Given the description of an element on the screen output the (x, y) to click on. 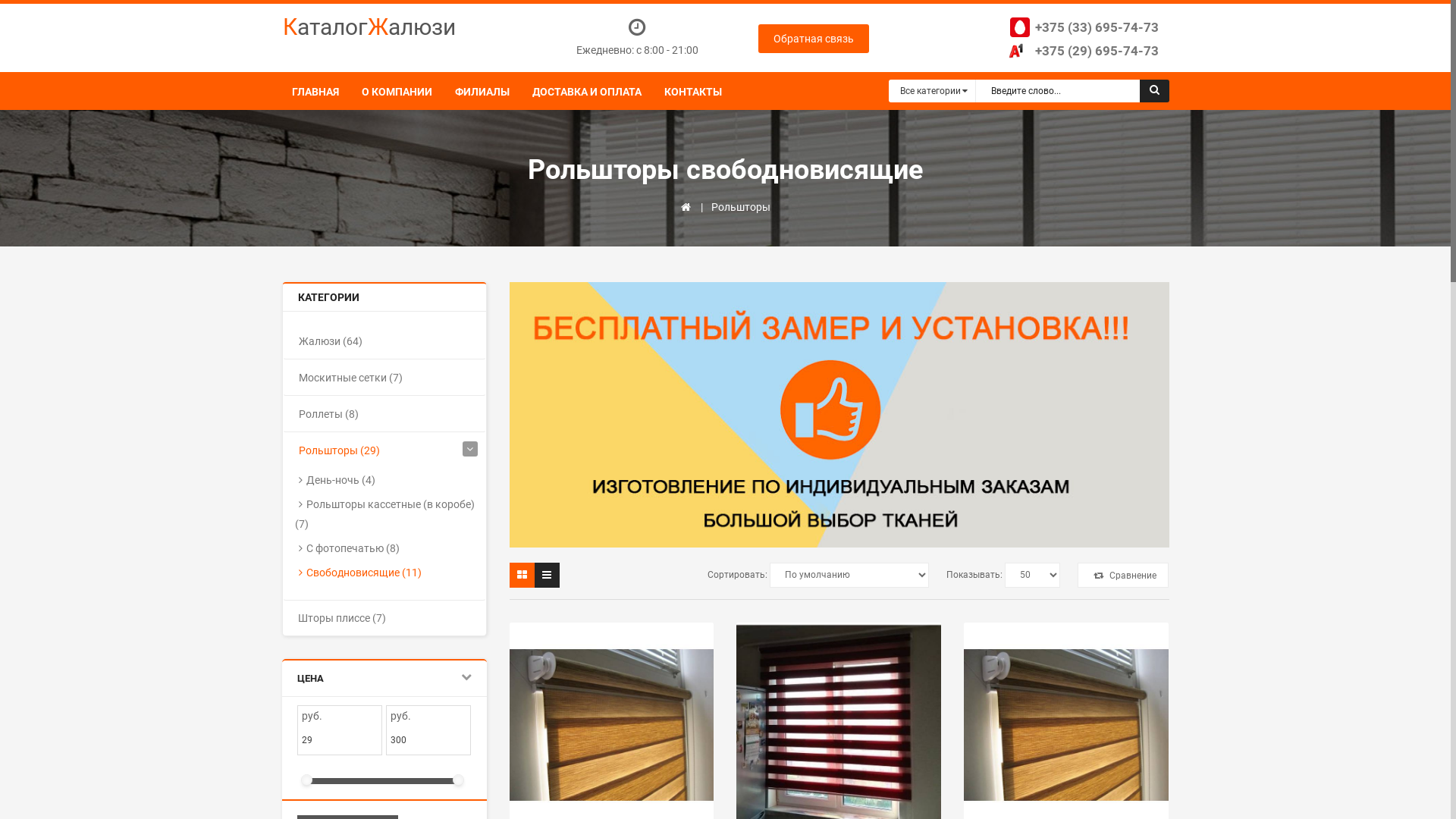
+375 (29) 695-74-73 Element type: text (1081, 50)
+375 (33) 695-74-73 Element type: text (1081, 27)
